Given the description of an element on the screen output the (x, y) to click on. 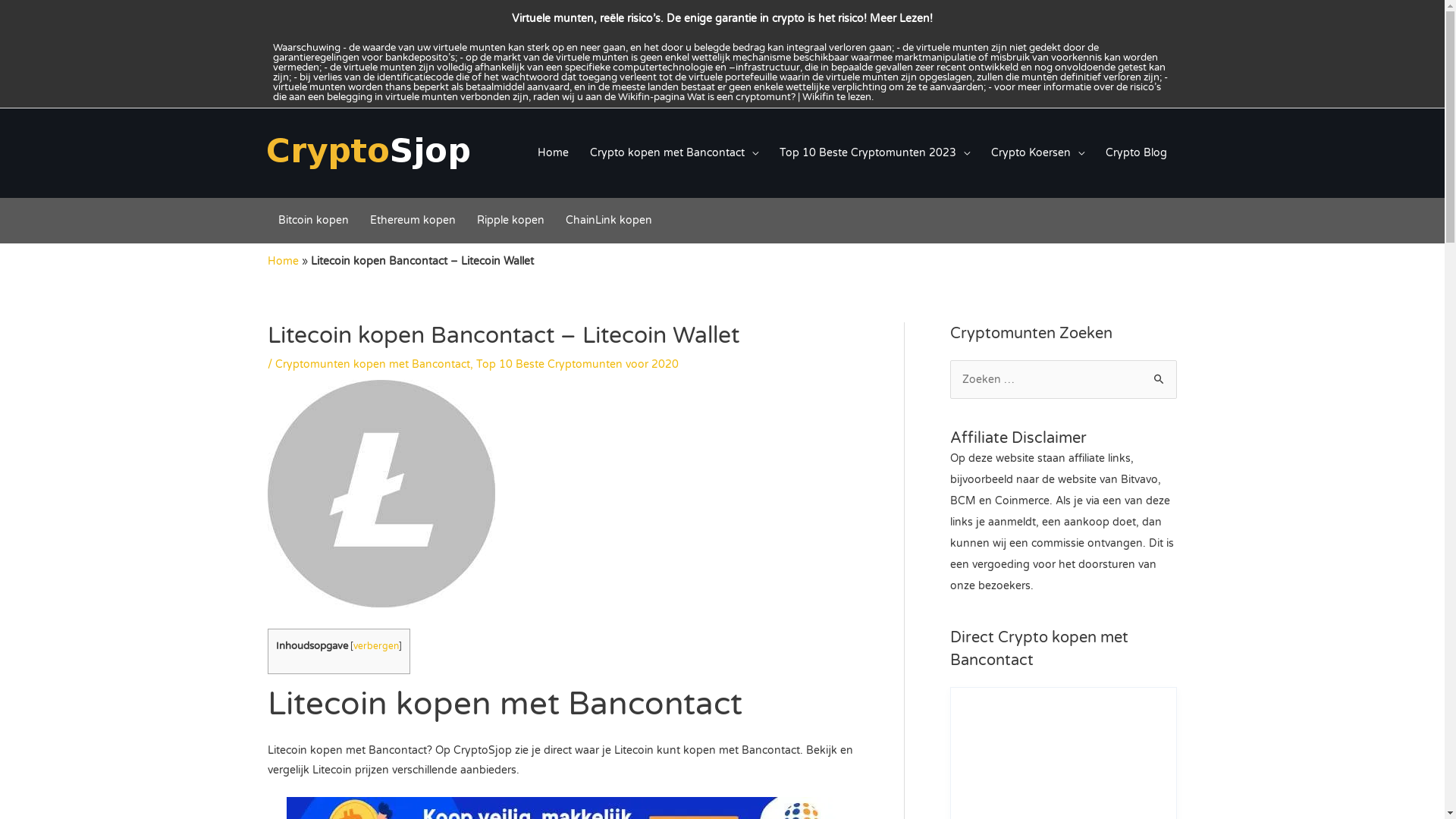
Home Element type: text (552, 152)
Zoeken Element type: text (1159, 379)
Home Element type: text (282, 260)
ChainLink kopen Element type: text (608, 220)
Crypto Blog Element type: text (1136, 152)
Bitcoin kopen Element type: text (312, 220)
Ripple kopen Element type: text (509, 220)
Crypto kopen met Bancontact Element type: text (673, 152)
Meer Lezen! Element type: text (900, 18)
Top 10 Beste Cryptomunten 2023 Element type: text (874, 152)
Ethereum kopen Element type: text (412, 220)
Top 10 Beste Cryptomunten voor 2020 Element type: text (577, 363)
Crypto Koersen Element type: text (1036, 152)
verbergen Element type: text (375, 645)
Wat is een cryptomunt? | Wikifin te lezen Element type: text (779, 97)
Cryptomunten kopen met Bancontact Element type: text (371, 363)
